Given the description of an element on the screen output the (x, y) to click on. 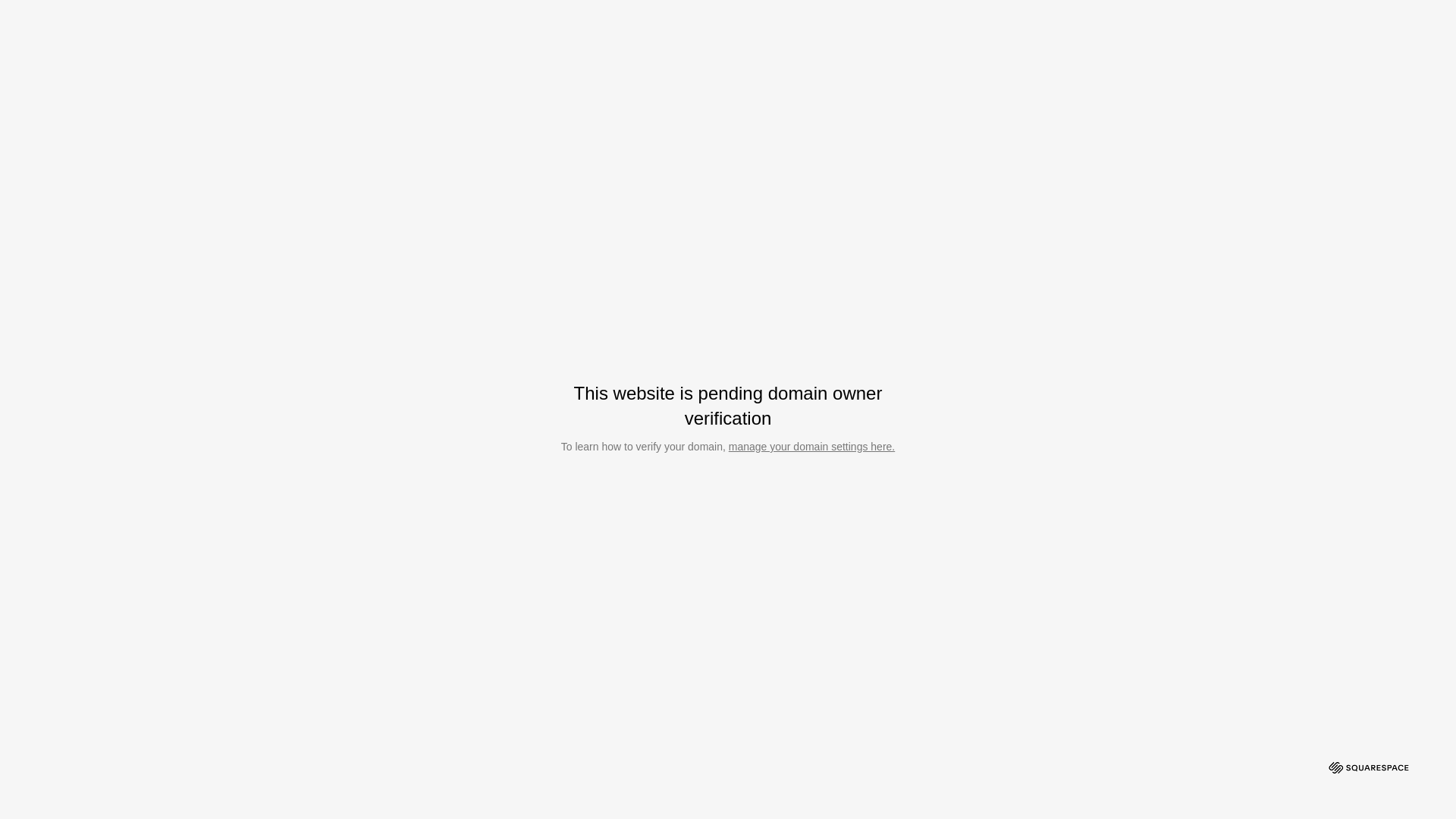
manage your domain settings here. Element type: text (811, 446)
